Given the description of an element on the screen output the (x, y) to click on. 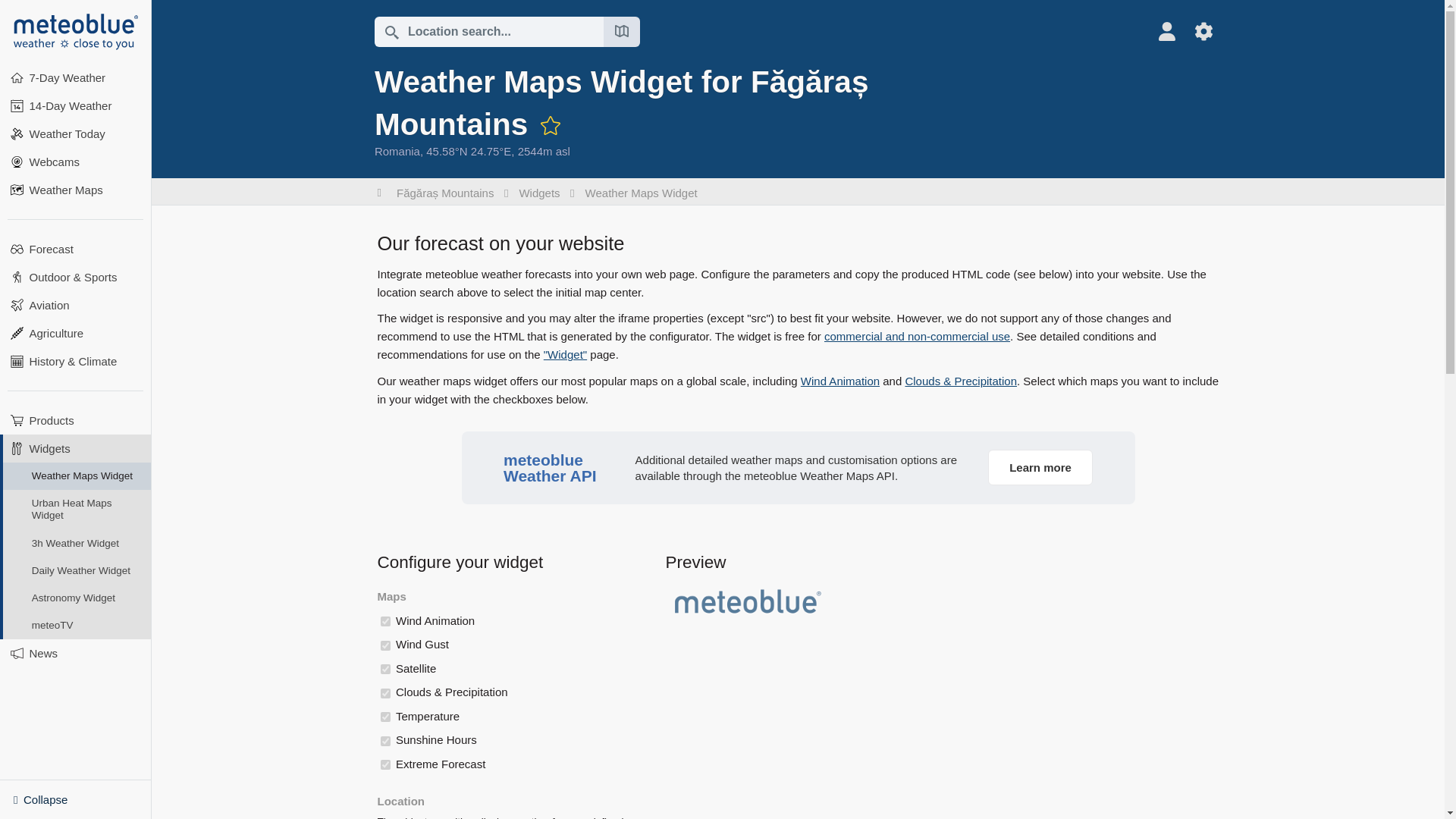
1 (385, 621)
meteoTV (76, 625)
1 (385, 669)
Products (75, 420)
Weather Today (75, 133)
1 (385, 645)
1 (385, 716)
Forecast (75, 248)
Collapse (75, 799)
Aviation (75, 305)
1 (385, 693)
7 Day Weather (75, 77)
meteoblue (75, 31)
Agriculture (75, 333)
Weather Today (75, 133)
